Given the description of an element on the screen output the (x, y) to click on. 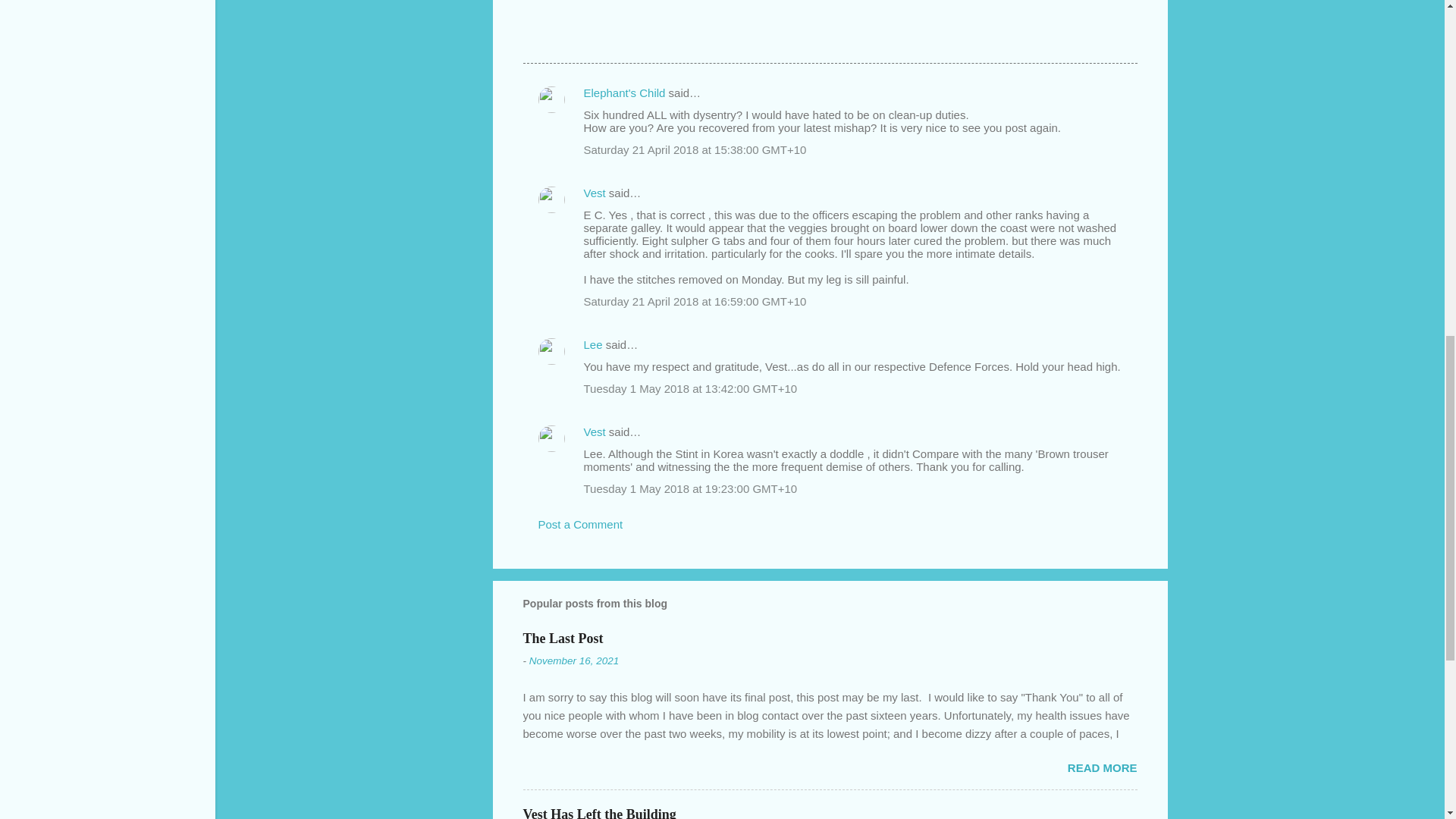
Lee (592, 344)
The Last Post (563, 638)
comment permalink (694, 149)
November 16, 2021 (574, 660)
Vest Has Left the Building (599, 812)
Elephant's Child (624, 92)
Post a Comment (580, 523)
Vest (594, 431)
Vest (594, 192)
READ MORE (1102, 767)
Email Post (562, 34)
